Given the description of an element on the screen output the (x, y) to click on. 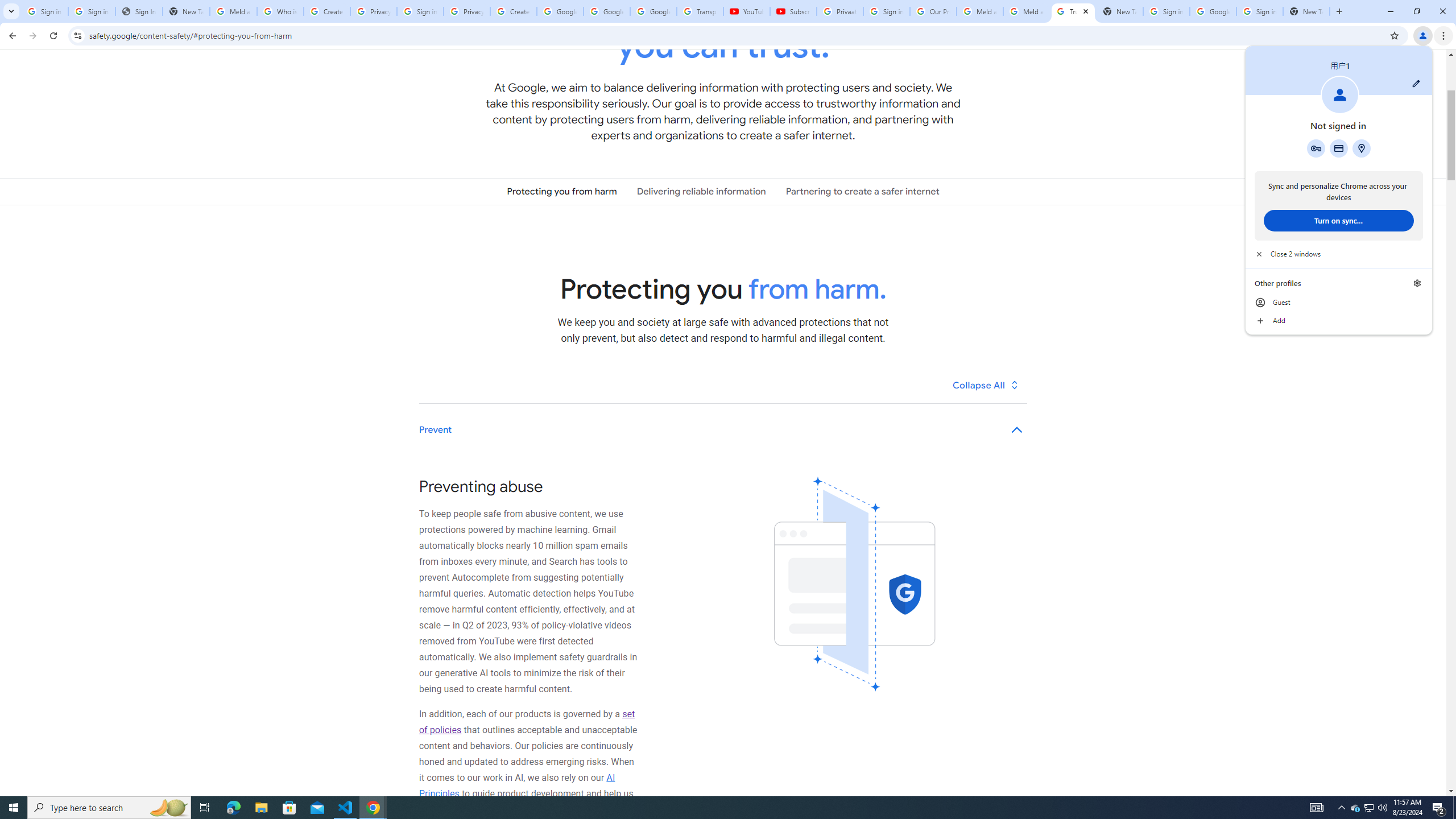
Protecting you from harm (1368, 807)
Search highlights icon opens search home window (561, 191)
Google Account (167, 807)
Sign in - Google Accounts (652, 11)
Close 2 windows (91, 11)
Delivering reliable information (1338, 253)
Sign in - Google Accounts (700, 191)
Trusted Information and Content - Google Safety Center (1166, 11)
Microsoft Store (1073, 11)
Who is my administrator? - Google Account Help (289, 807)
